Given the description of an element on the screen output the (x, y) to click on. 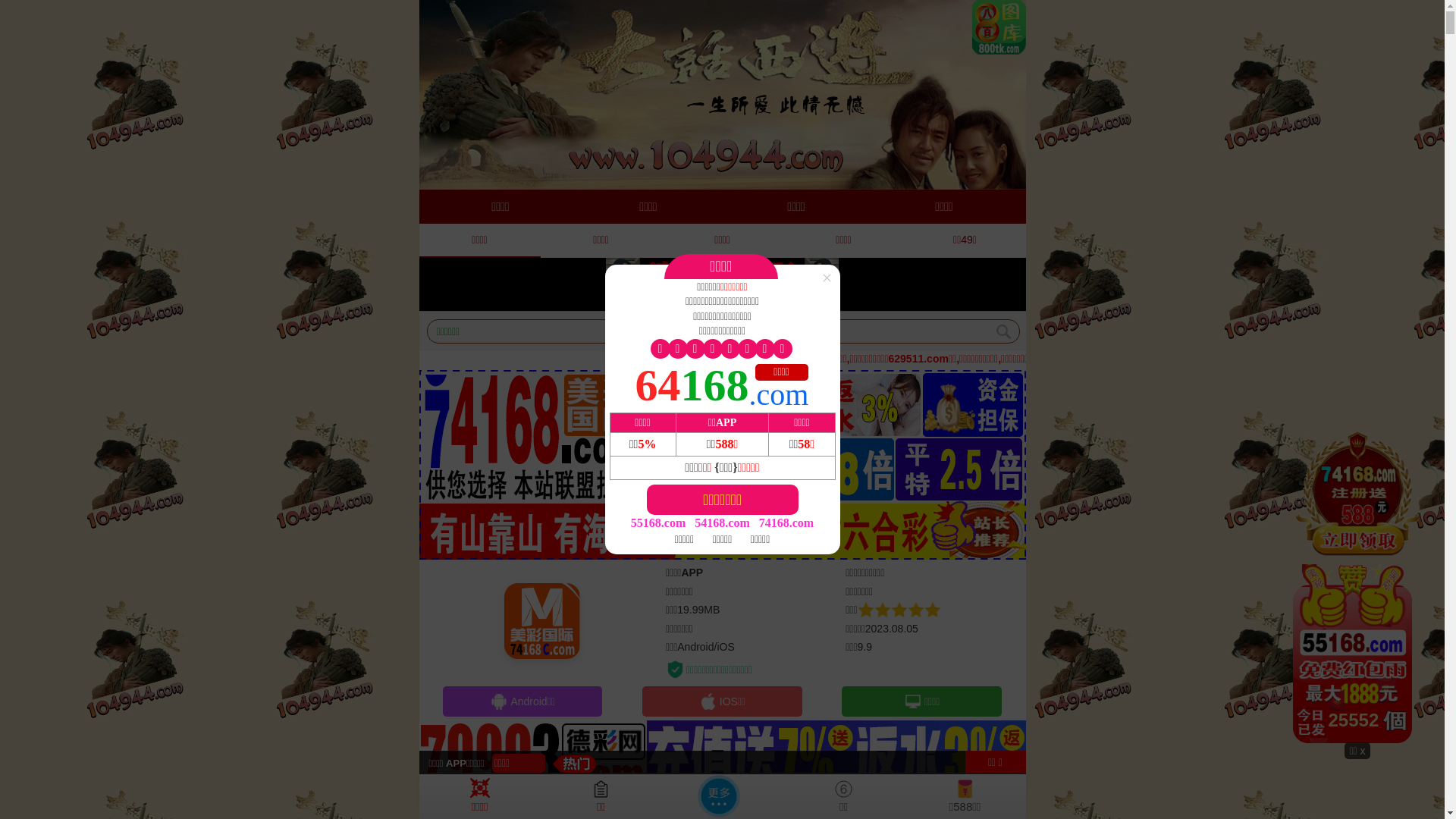
24855 Element type: text (1356, 585)
